Given the description of an element on the screen output the (x, y) to click on. 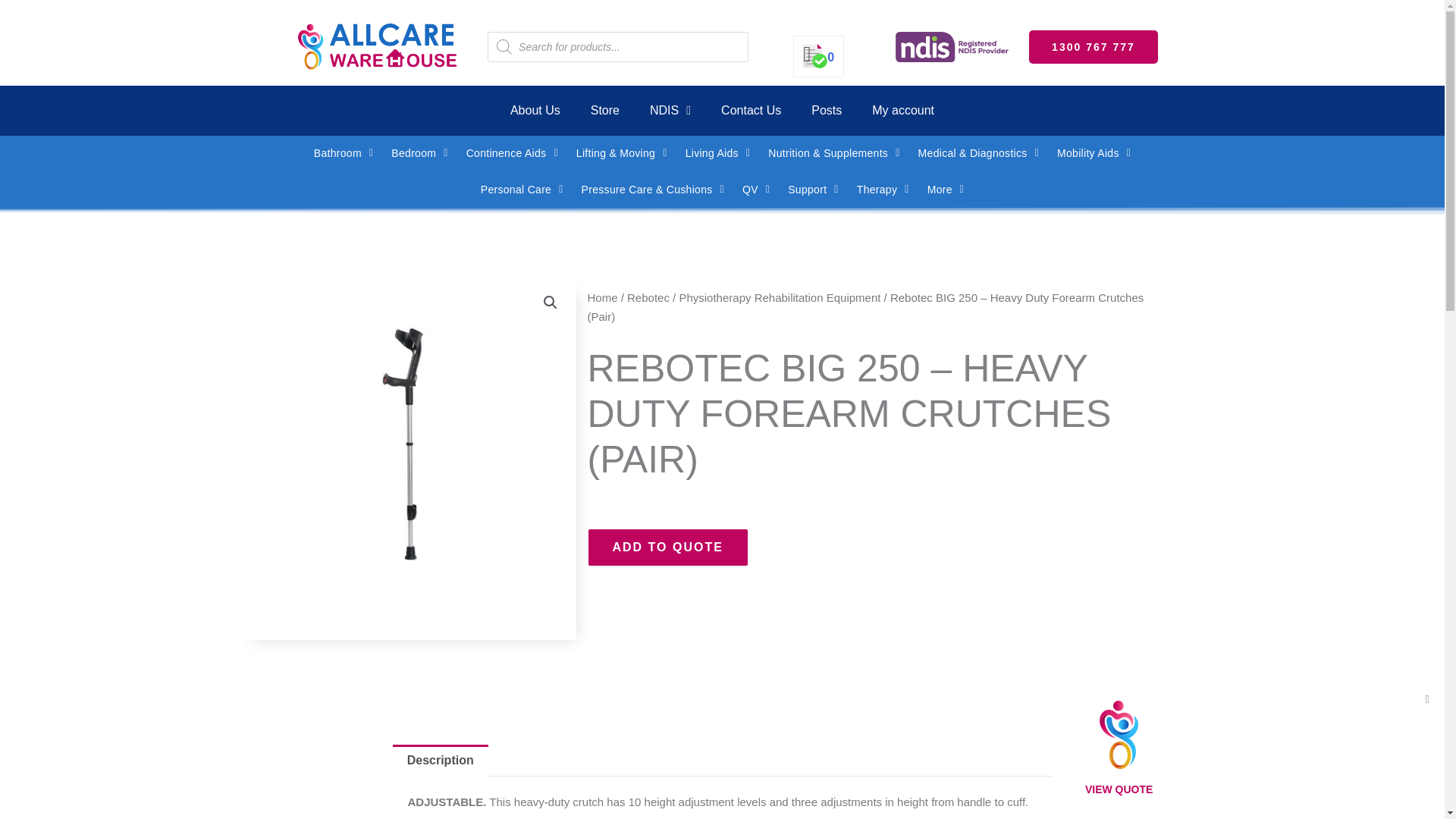
My account (903, 110)
Store (604, 110)
NDIS (670, 110)
Bedroom (419, 153)
0 (818, 56)
Posts (826, 110)
Rebotec-Duty- (405, 446)
1300 767 777 (1093, 46)
Contact Us (751, 110)
About Us (535, 110)
Bathroom (343, 153)
